Given the description of an element on the screen output the (x, y) to click on. 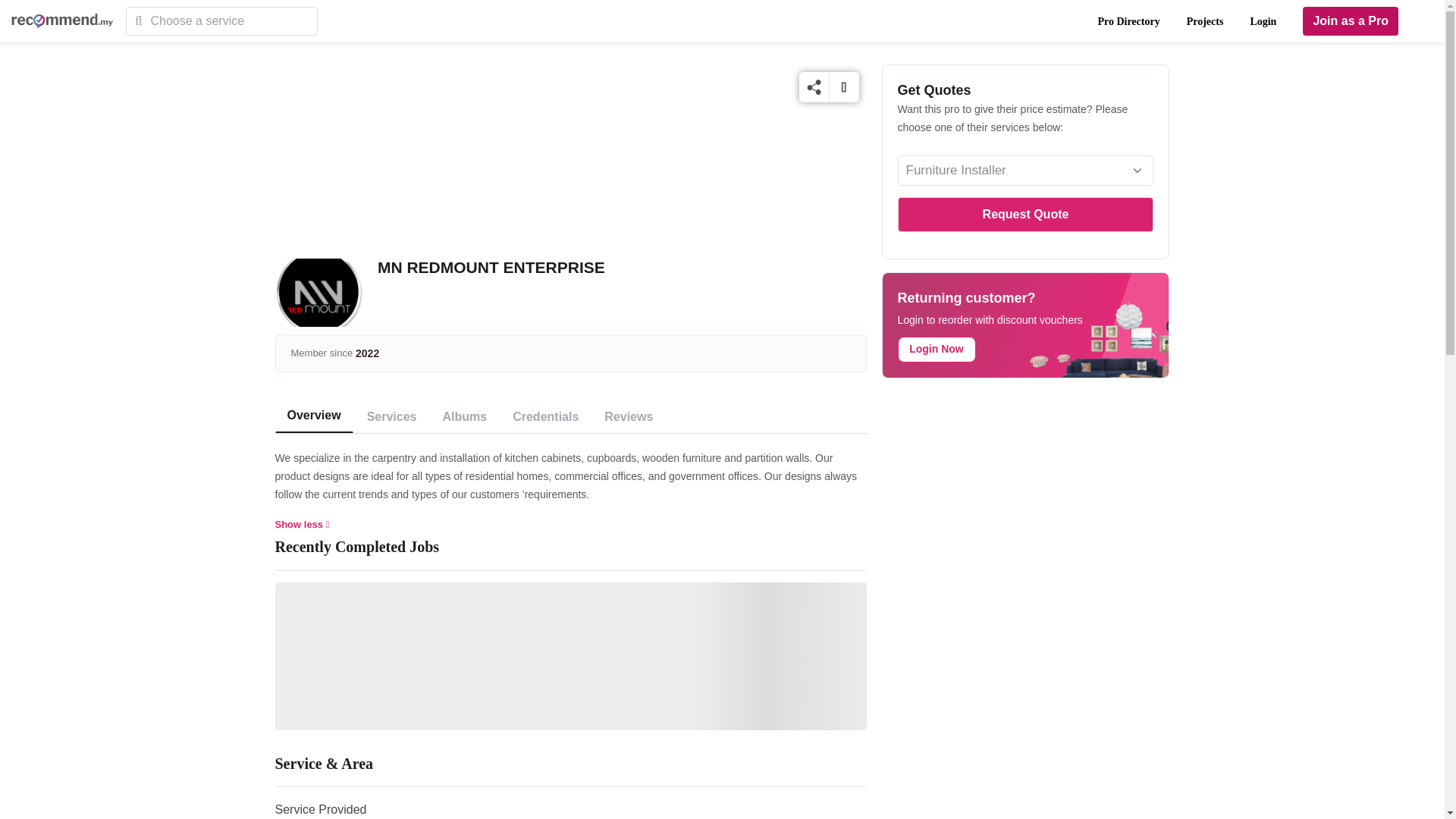
Overview (313, 416)
Show less (302, 523)
Projects (1205, 21)
Albums (464, 417)
Request Quote (1026, 214)
Login (1262, 21)
Join as a Pro (1350, 21)
Services (392, 417)
Reviews (628, 417)
Pro Directory (1127, 21)
